Given the description of an element on the screen output the (x, y) to click on. 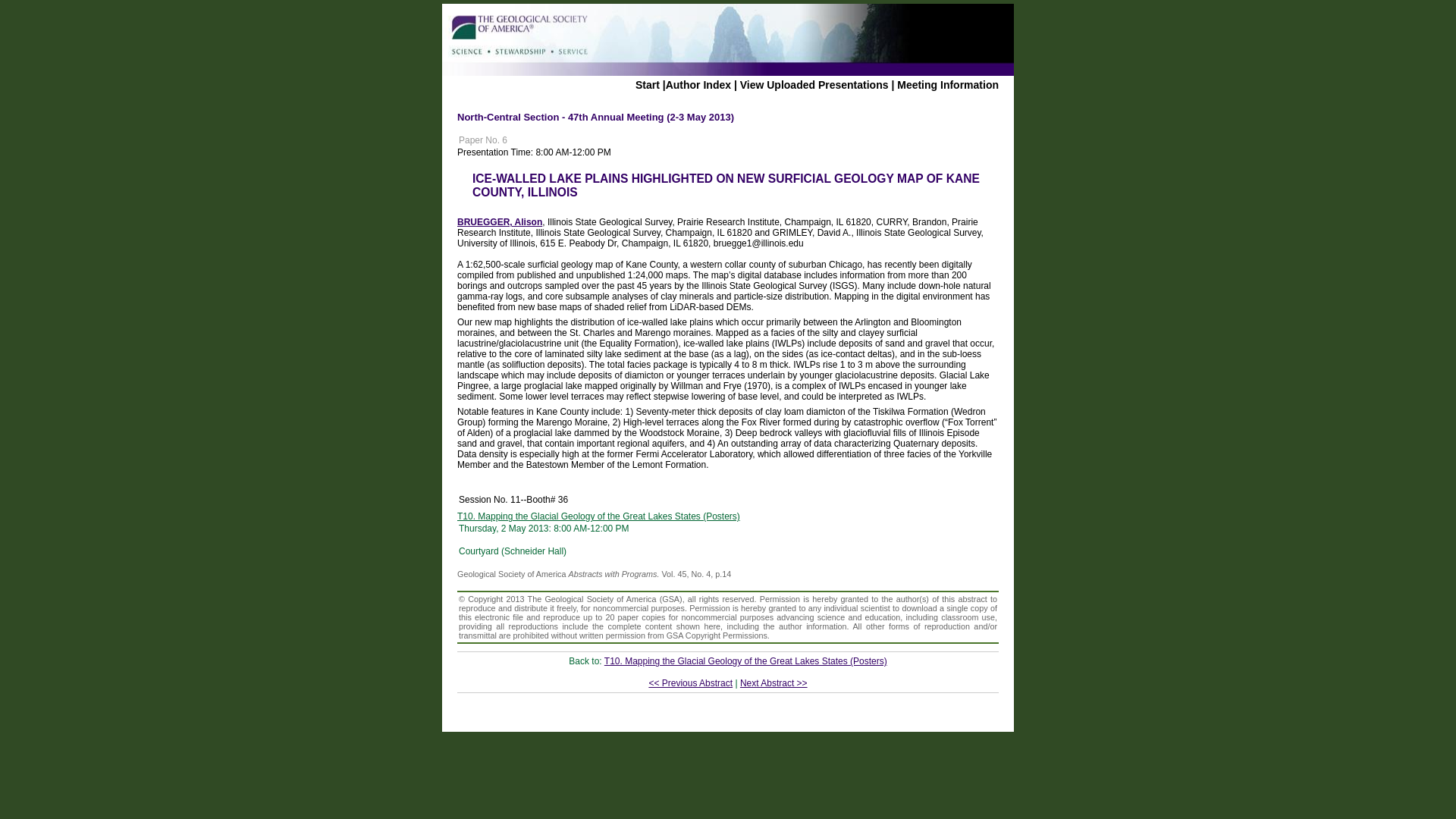
BRUEGGER, Alison (499, 222)
Meeting Information (947, 84)
View Uploaded Presentations (813, 84)
Start (646, 84)
Author Index (697, 84)
